Given the description of an element on the screen output the (x, y) to click on. 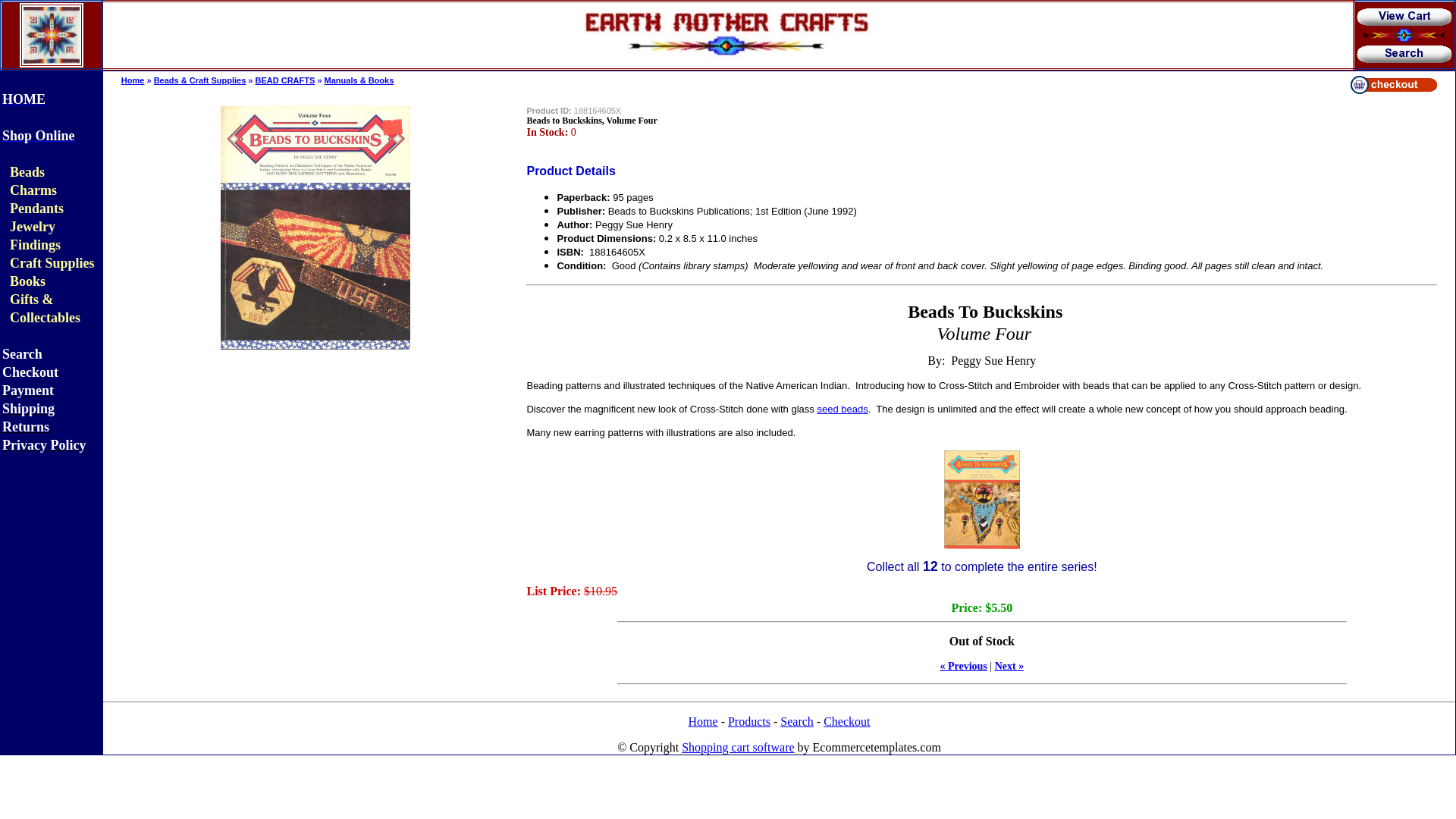
Home (132, 80)
Privacy Policy (43, 445)
Home (702, 721)
HOME (23, 99)
Shopping cart software (737, 747)
Shipping (28, 408)
Jewelry Findings (35, 235)
Search (22, 354)
Checkout (846, 721)
Craft Supplies (52, 263)
Beads (27, 172)
seed beads (841, 408)
BEAD CRAFTS (284, 80)
Pendants (37, 208)
Payment (27, 390)
